Given the description of an element on the screen output the (x, y) to click on. 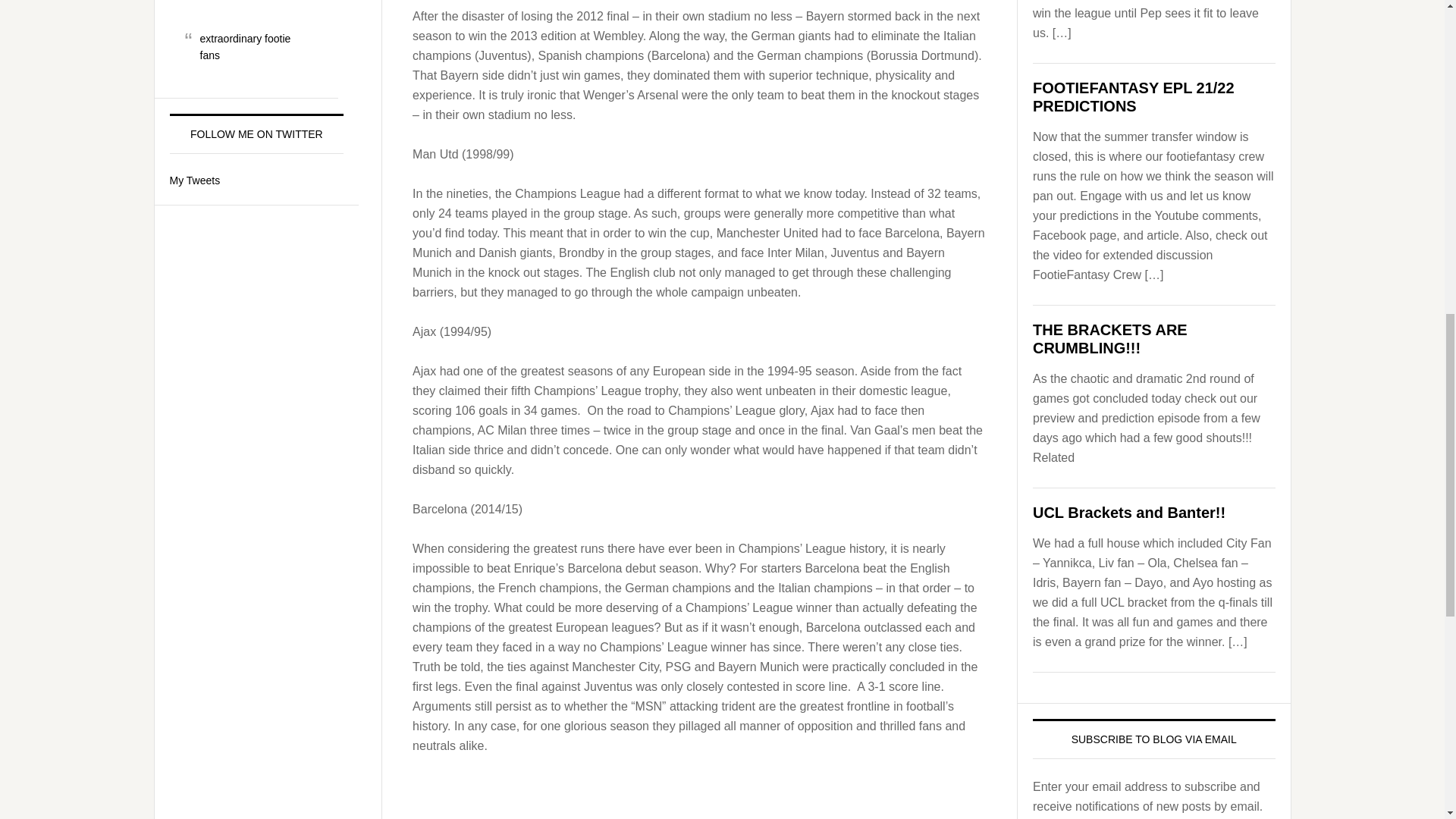
THE BRACKETS ARE CRUMBLING!!! (1110, 338)
UCL Brackets and Banter!! (1128, 512)
extraordinary footie fans (245, 47)
